Given the description of an element on the screen output the (x, y) to click on. 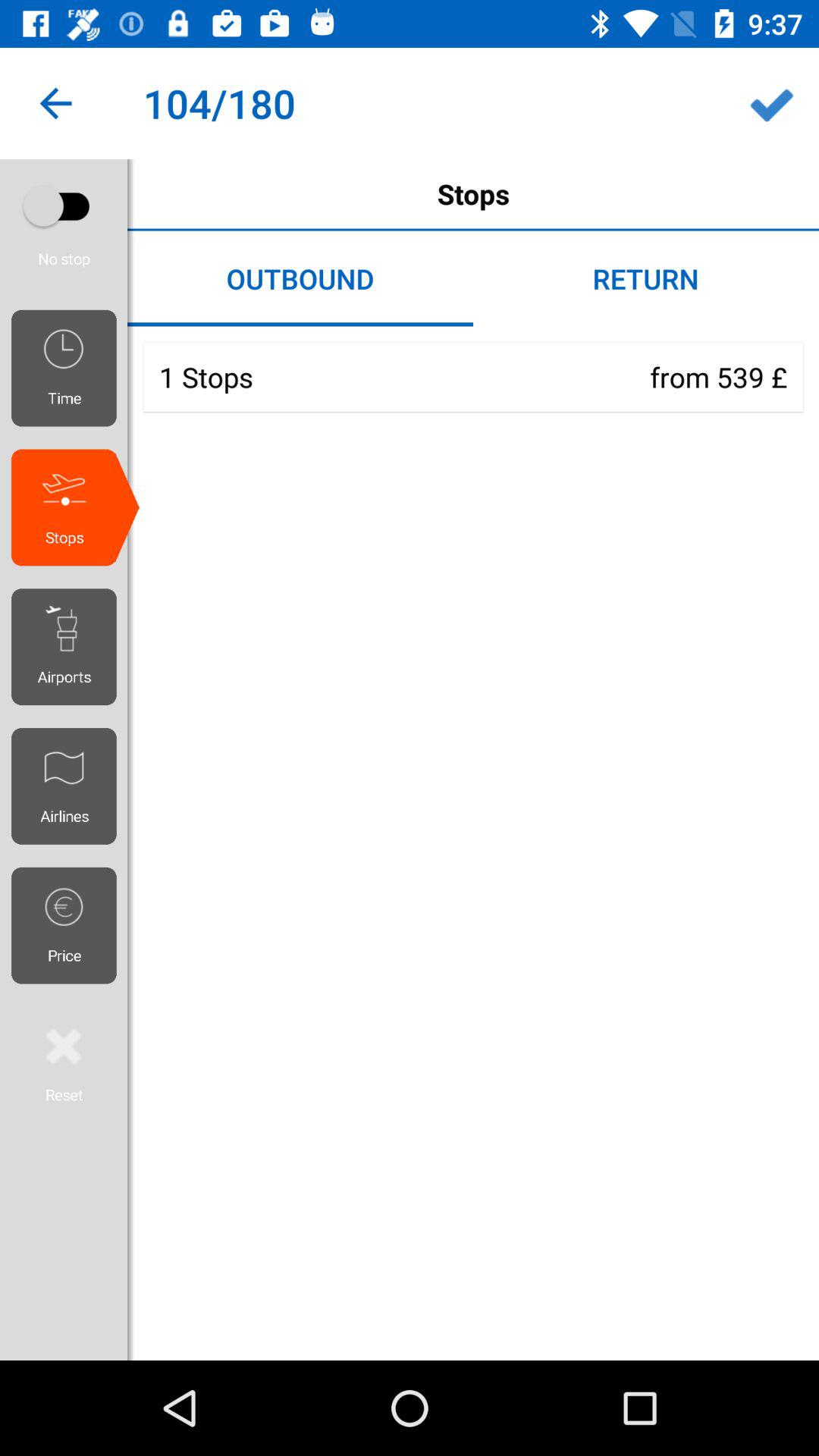
press item below the airports item (69, 785)
